Given the description of an element on the screen output the (x, y) to click on. 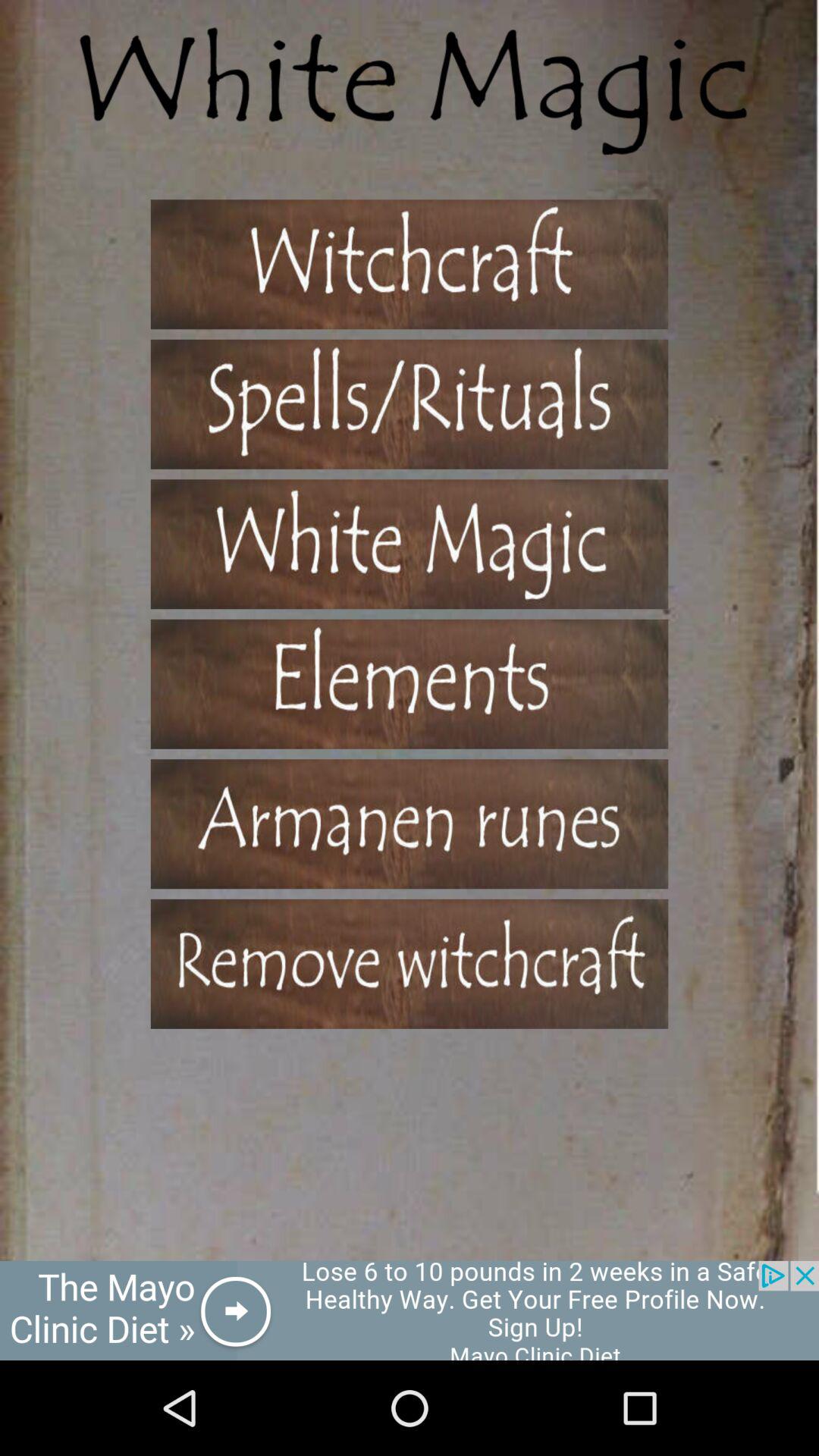
spells /rituals (409, 404)
